Given the description of an element on the screen output the (x, y) to click on. 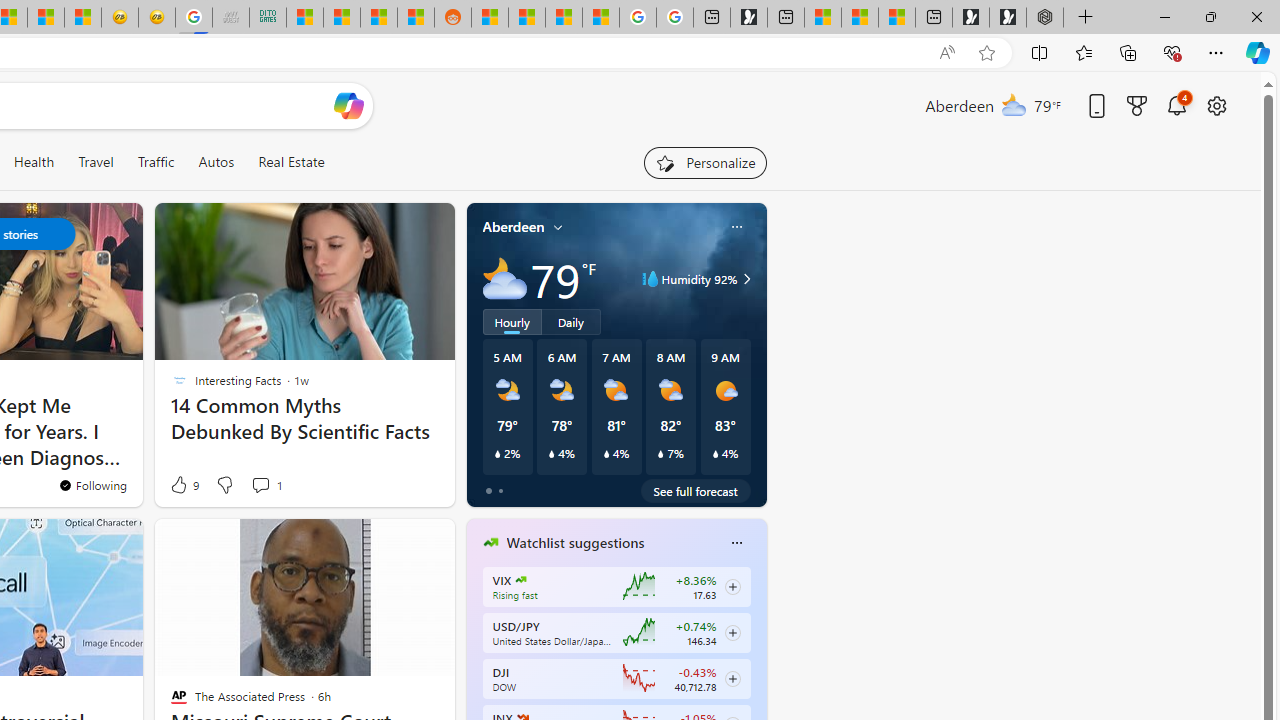
See full forecast (695, 490)
